Given the description of an element on the screen output the (x, y) to click on. 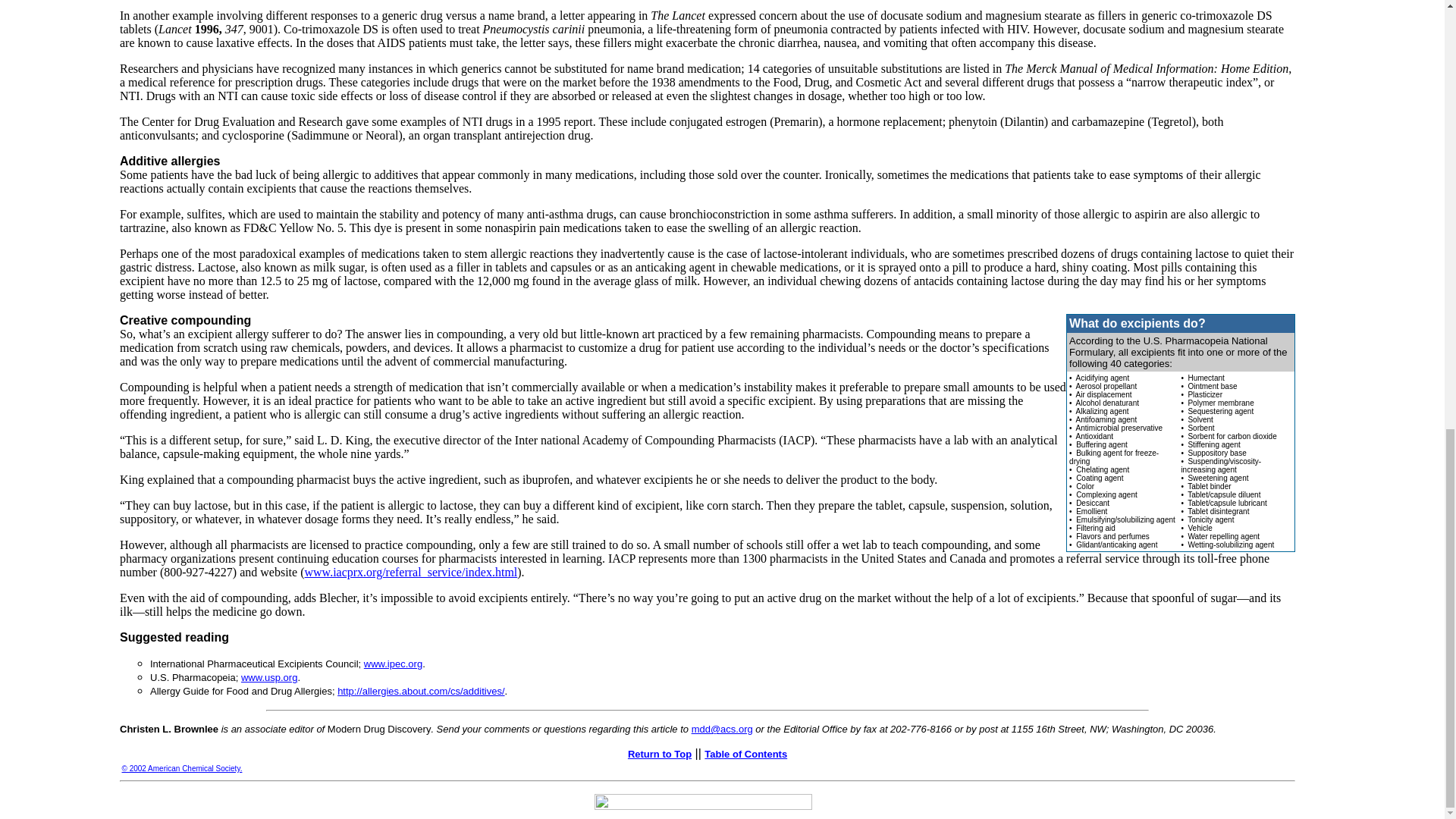
email MDD (721, 728)
Return to Top (659, 753)
Allergy Guide for Food and Drug Allergies (420, 690)
www.usp.org (269, 677)
Table of Contents (745, 753)
International Pharmaceutical Excipients Council (393, 663)
Table of Contents (745, 753)
Return to Top (659, 753)
U.S. Pharmacopeia (269, 677)
www.ipec.org (393, 663)
